Given the description of an element on the screen output the (x, y) to click on. 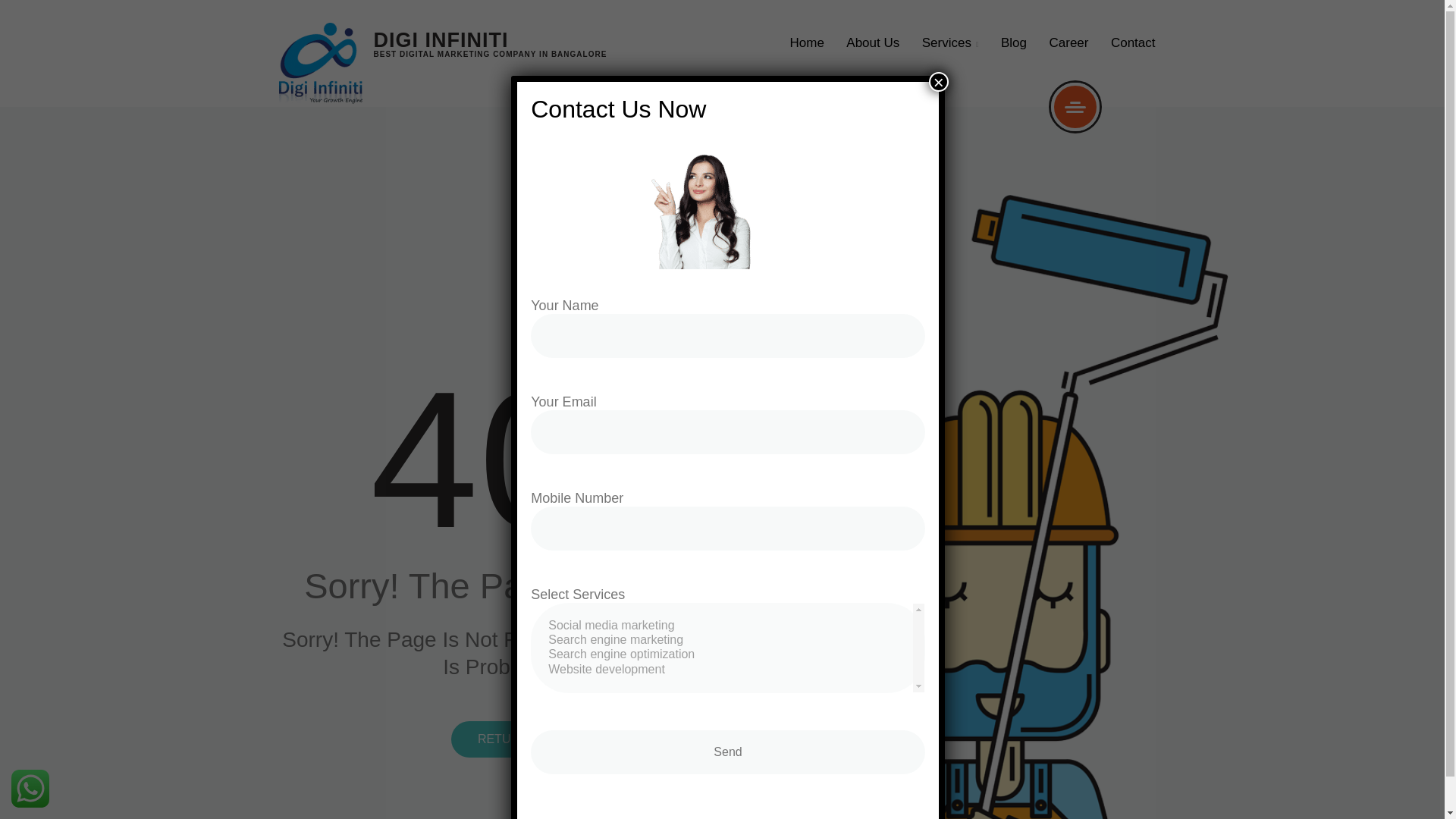
Blog (1013, 42)
Send (727, 751)
Send (727, 751)
RETURN TO HOME (532, 739)
About Us (872, 42)
Contact (1133, 42)
Career (1067, 42)
Home (807, 42)
